Given the description of an element on the screen output the (x, y) to click on. 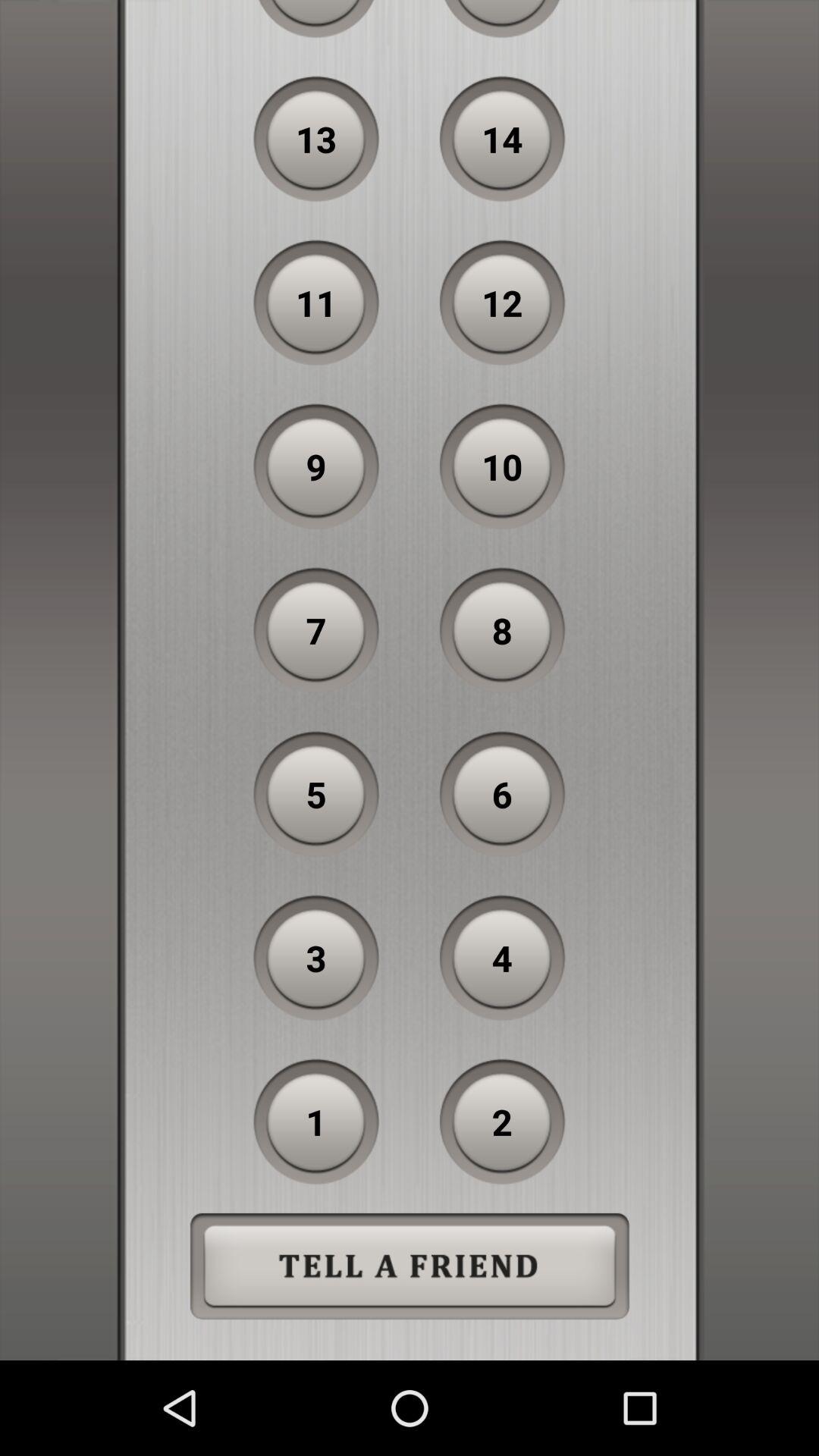
flip to the 6 item (502, 794)
